Given the description of an element on the screen output the (x, y) to click on. 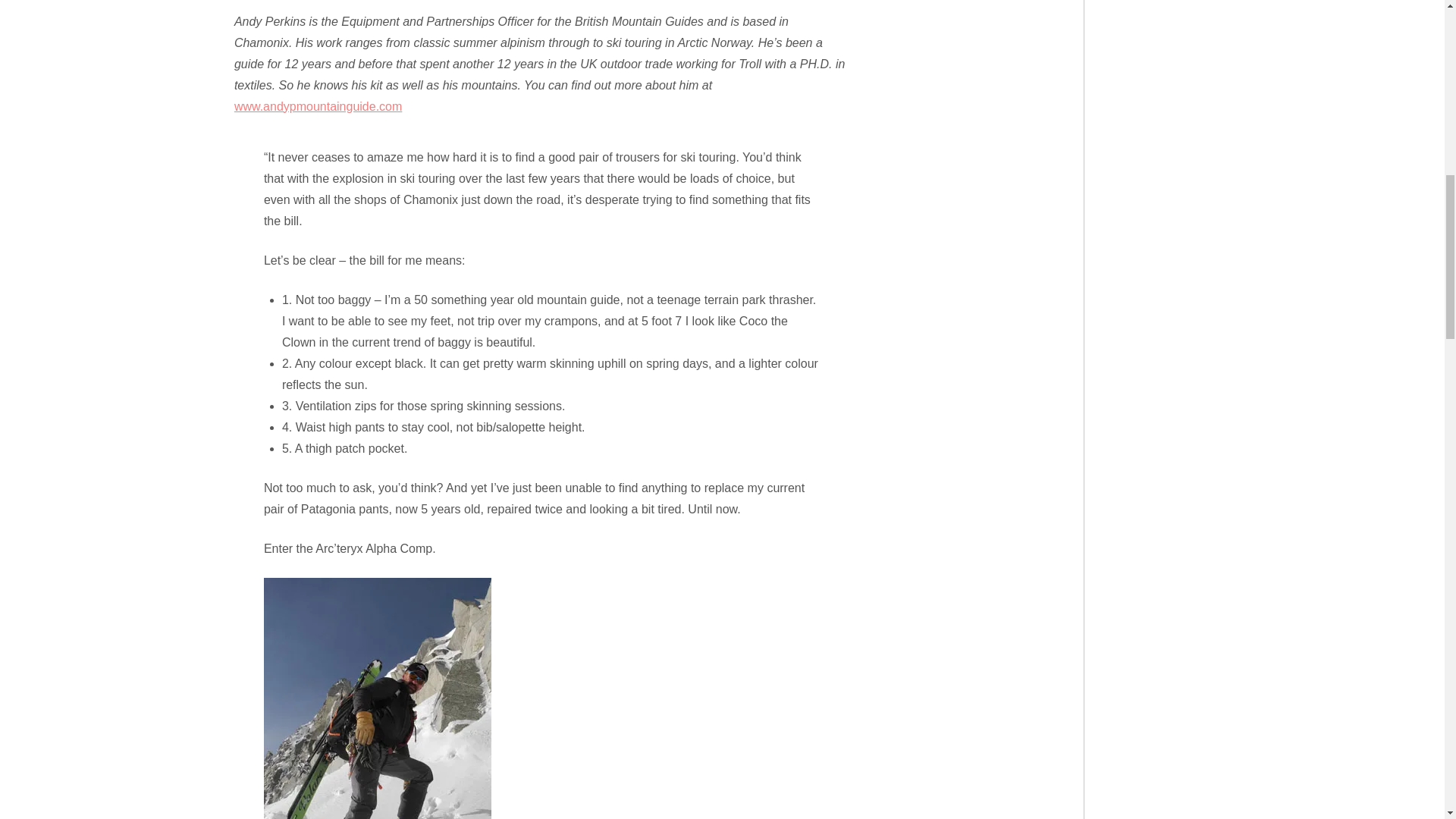
www.andypmountainguide.com (317, 106)
